Given the description of an element on the screen output the (x, y) to click on. 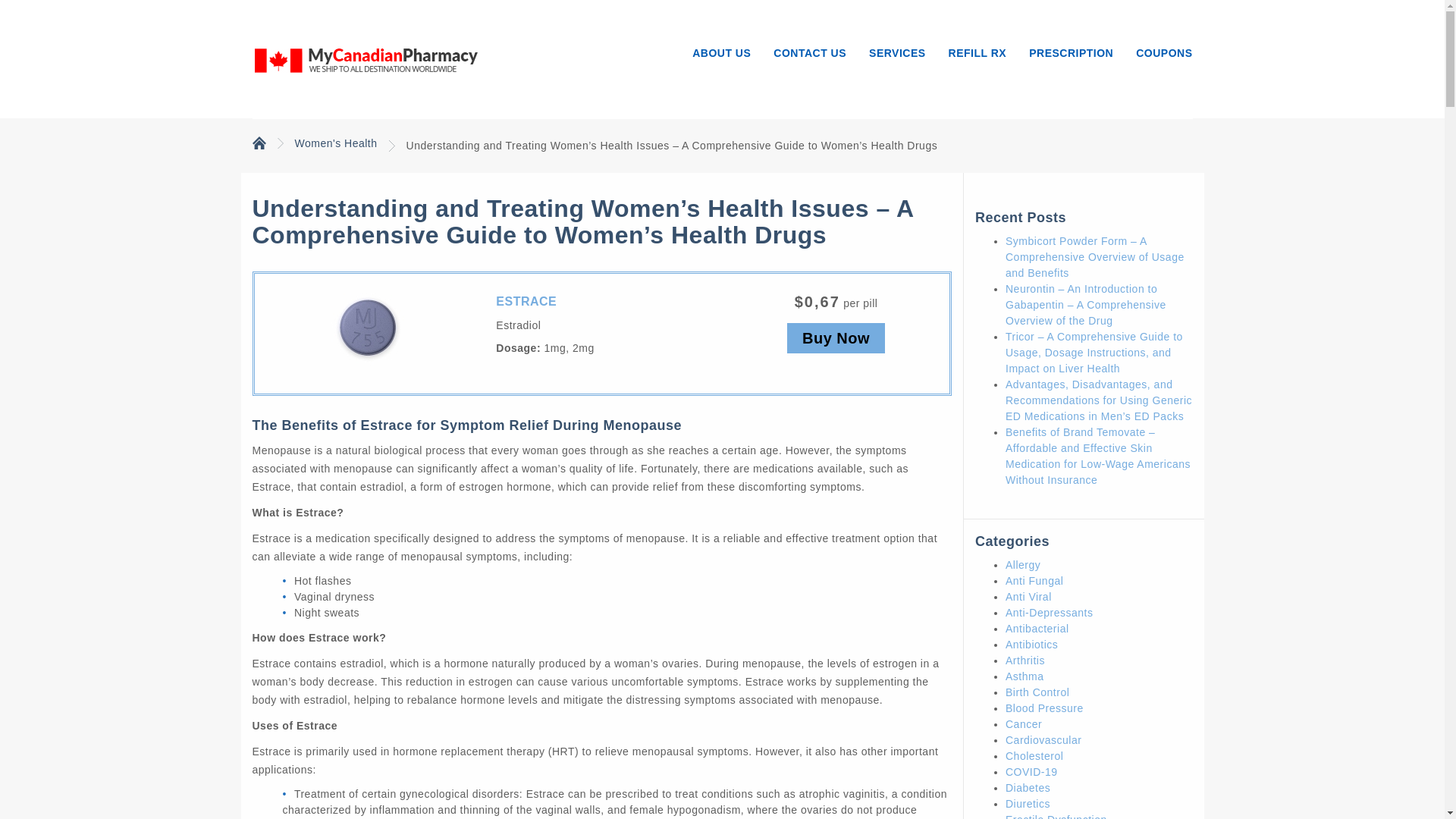
Go to the Women's Health category archives. (335, 143)
Go to My Canadian Pharmacy Provides HealthCare Means. (257, 141)
CONTACT US (809, 47)
My Canadian Pharmacy Provides HealthCare Means (365, 58)
PRESCRIPTION (1070, 47)
Buy Now (836, 337)
Women's Health (335, 143)
